Given the description of an element on the screen output the (x, y) to click on. 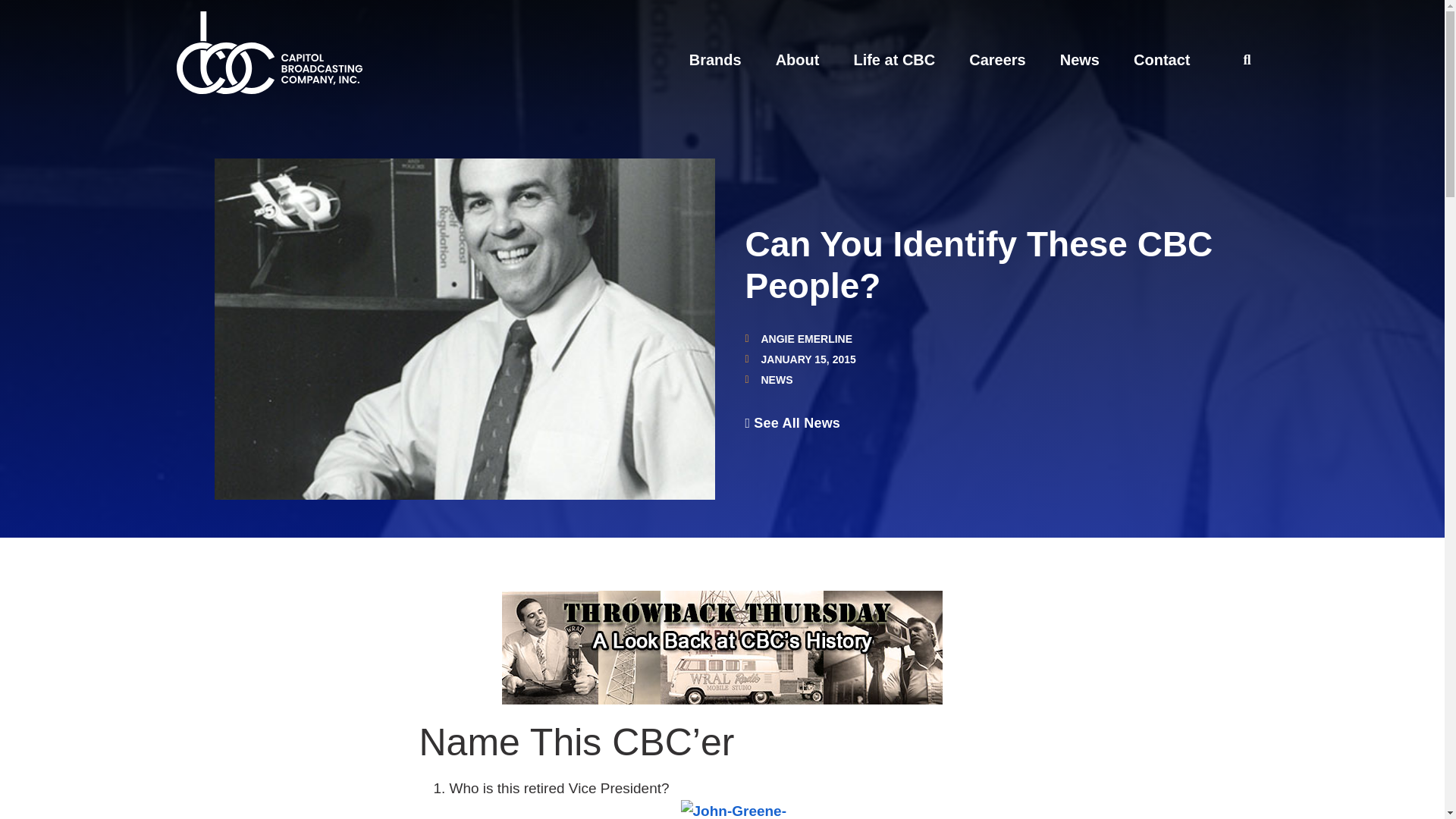
NEWS (777, 379)
ANGIE EMERLINE (797, 338)
See All News (792, 422)
JANUARY 15, 2015 (800, 358)
Life at CBC (893, 59)
Careers (997, 59)
Contact (1161, 59)
About (797, 59)
Brands (714, 59)
News (1079, 59)
